Given the description of an element on the screen output the (x, y) to click on. 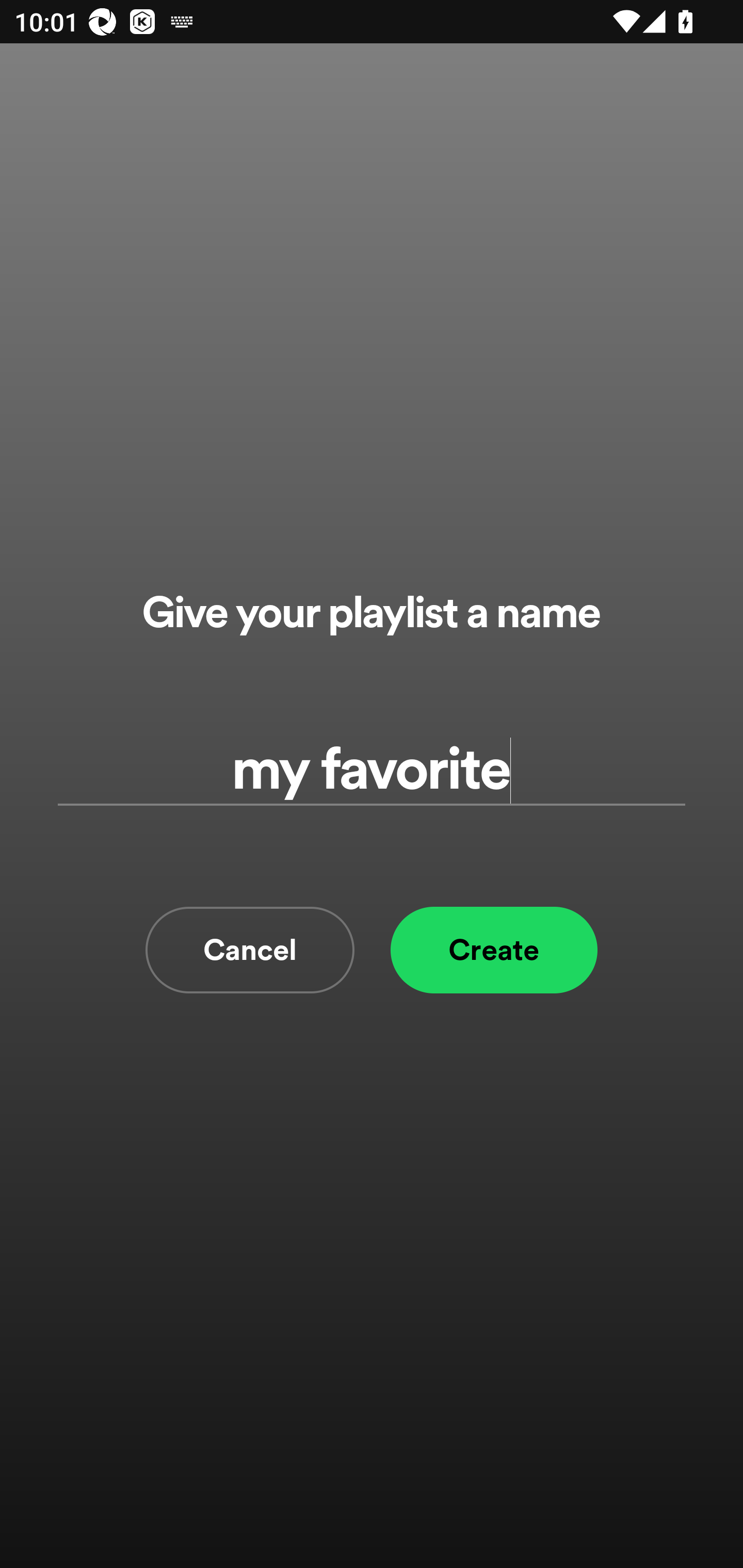
my favorite Add a playlist name (371, 769)
Cancel (249, 950)
Create (493, 950)
